Given the description of an element on the screen output the (x, y) to click on. 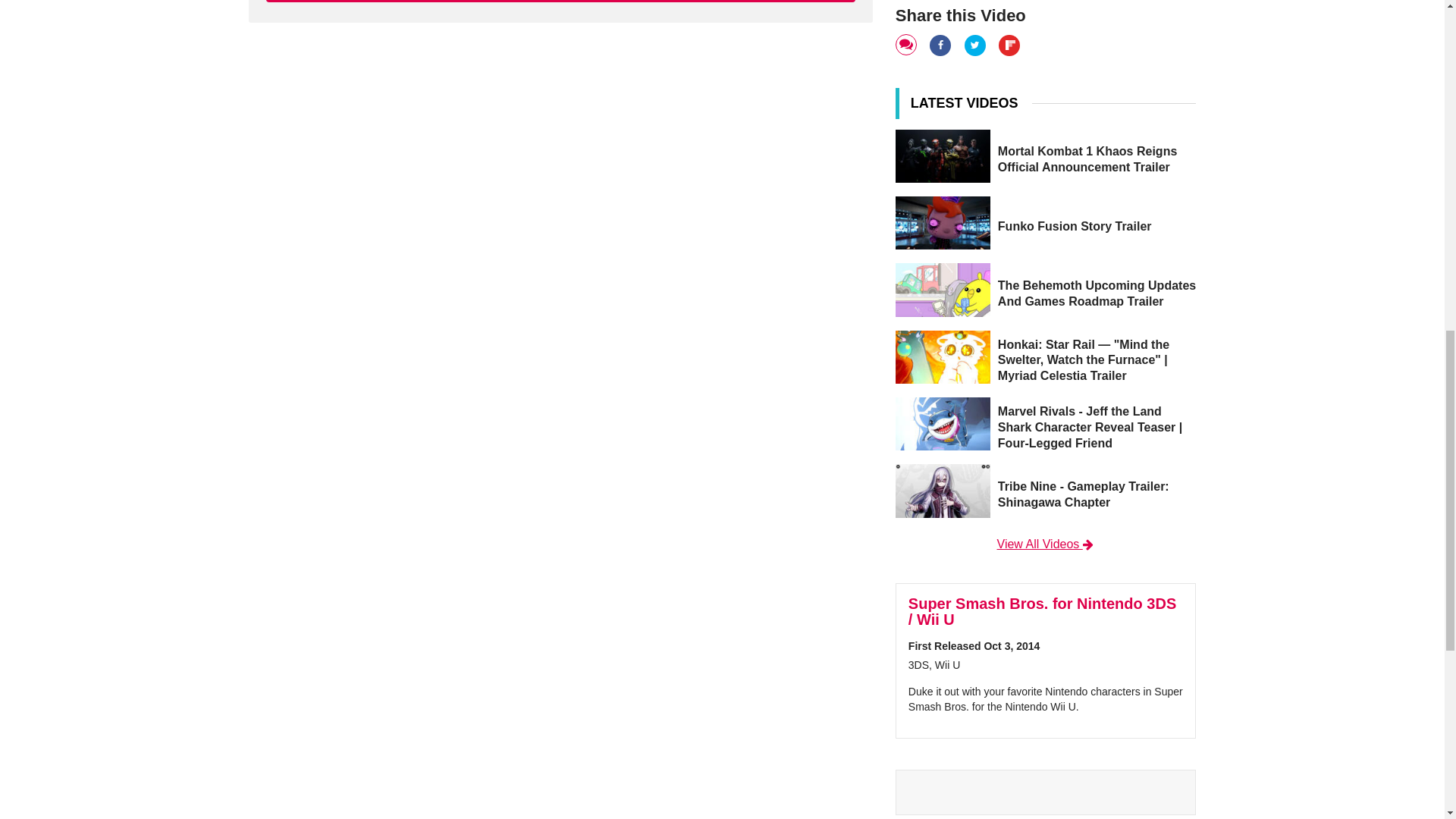
Twitter (975, 44)
Comment (906, 45)
Facebook (941, 44)
Flipboard (1010, 44)
